Given the description of an element on the screen output the (x, y) to click on. 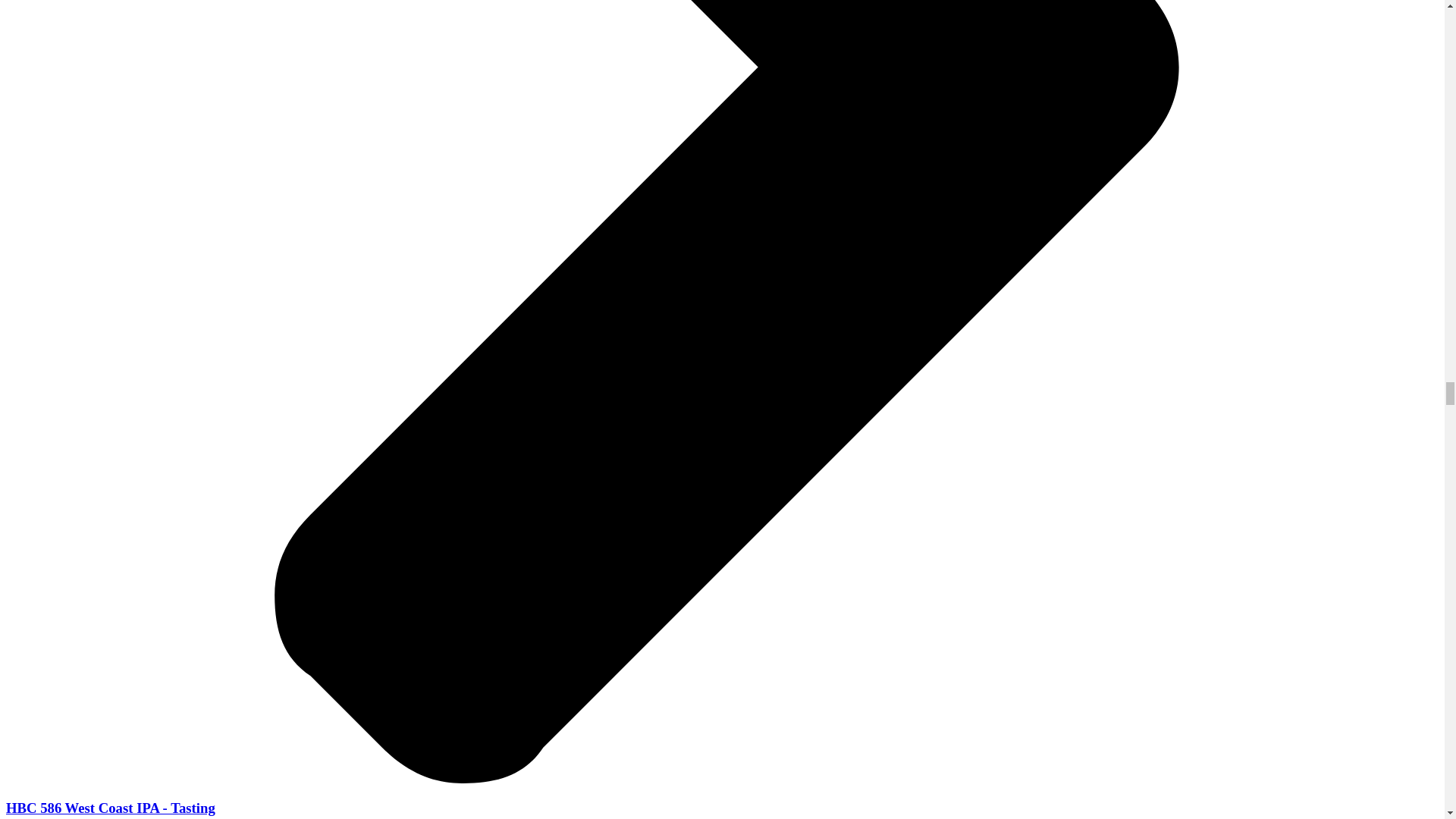
HBC 586 West Coast IPA - Tasting (110, 807)
